Given the description of an element on the screen output the (x, y) to click on. 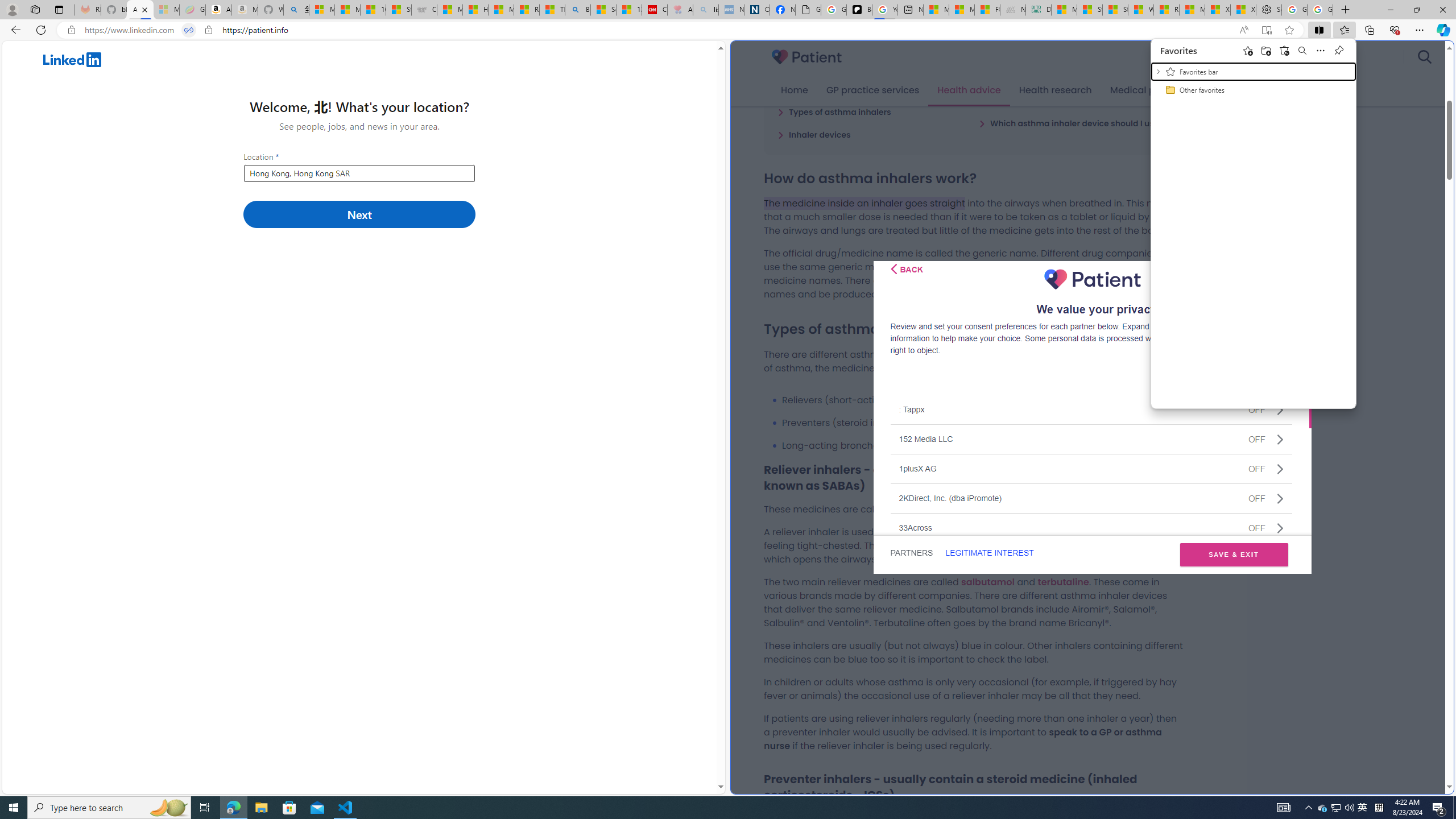
Health research (1054, 90)
2KDirect, Inc. (dba iPromote)OFF (1090, 498)
